Given the description of an element on the screen output the (x, y) to click on. 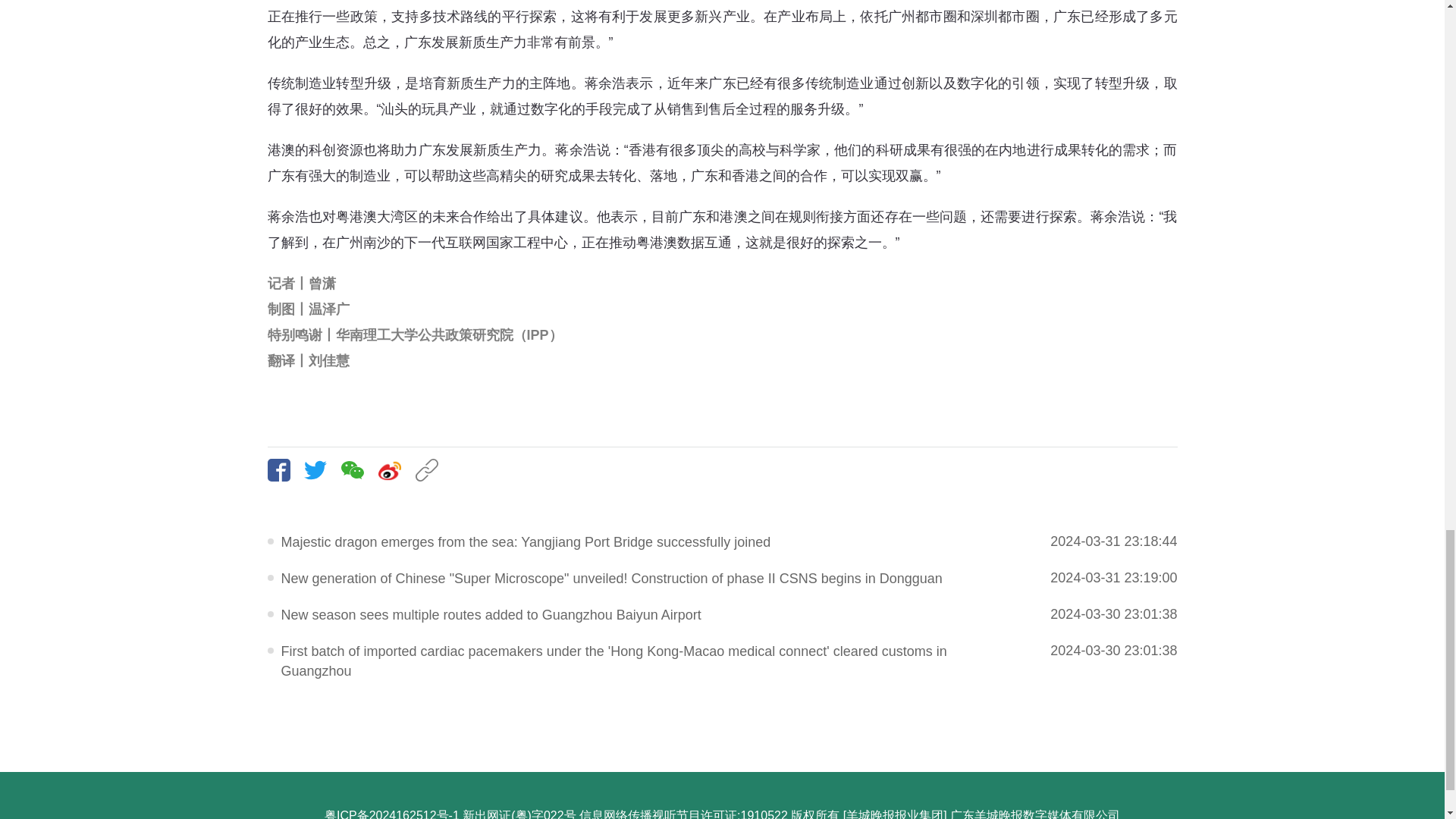
Facebook (283, 469)
Twitter (320, 469)
Weibo (395, 469)
